Given the description of an element on the screen output the (x, y) to click on. 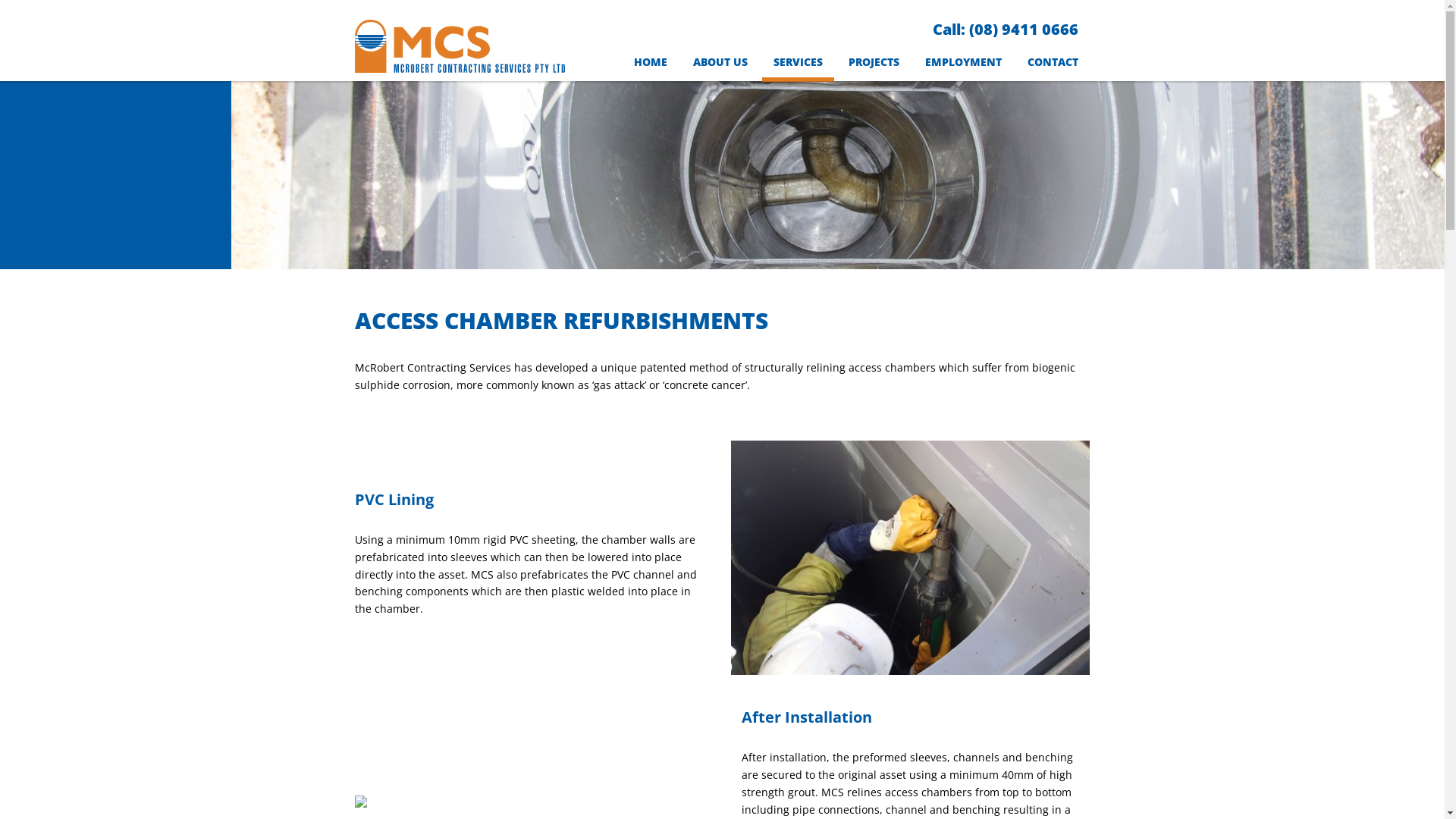
EMPLOYMENT Element type: text (963, 65)
HOME Element type: text (650, 65)
CONTACT Element type: text (1052, 65)
SERVICES Element type: text (797, 65)
Visit the MCS Home Page Element type: hover (459, 59)
(08) 9411 0666 Element type: text (1023, 28)
ABOUT US Element type: text (720, 65)
PROJECTS Element type: text (873, 65)
